Given the description of an element on the screen output the (x, y) to click on. 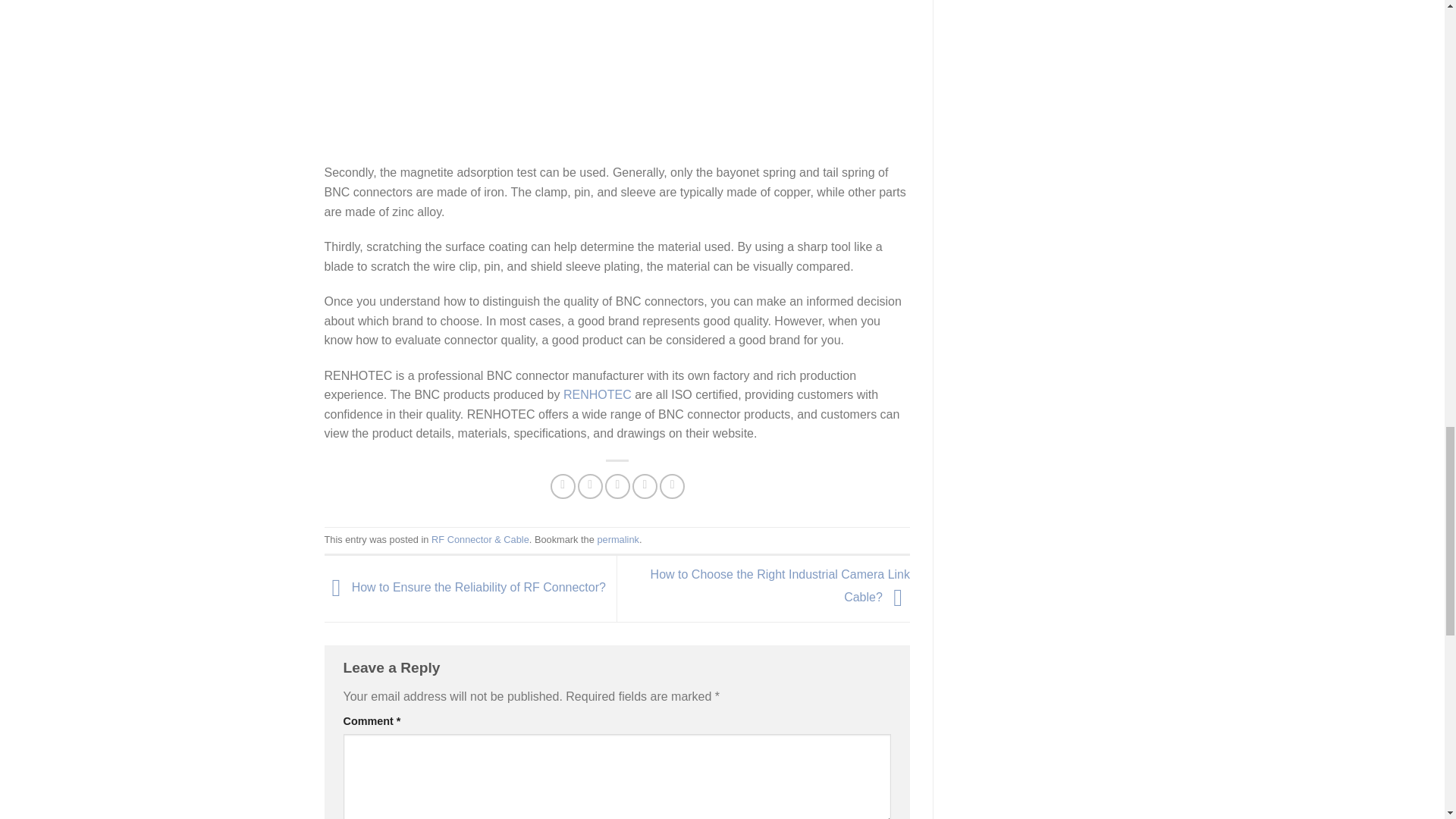
Share on LinkedIn (671, 486)
Pin on Pinterest (644, 486)
Permalink to Which Brand of BNC Connector is Better? (617, 539)
Email to a Friend (617, 486)
Share on Twitter (590, 486)
Share on Facebook (562, 486)
